Given the description of an element on the screen output the (x, y) to click on. 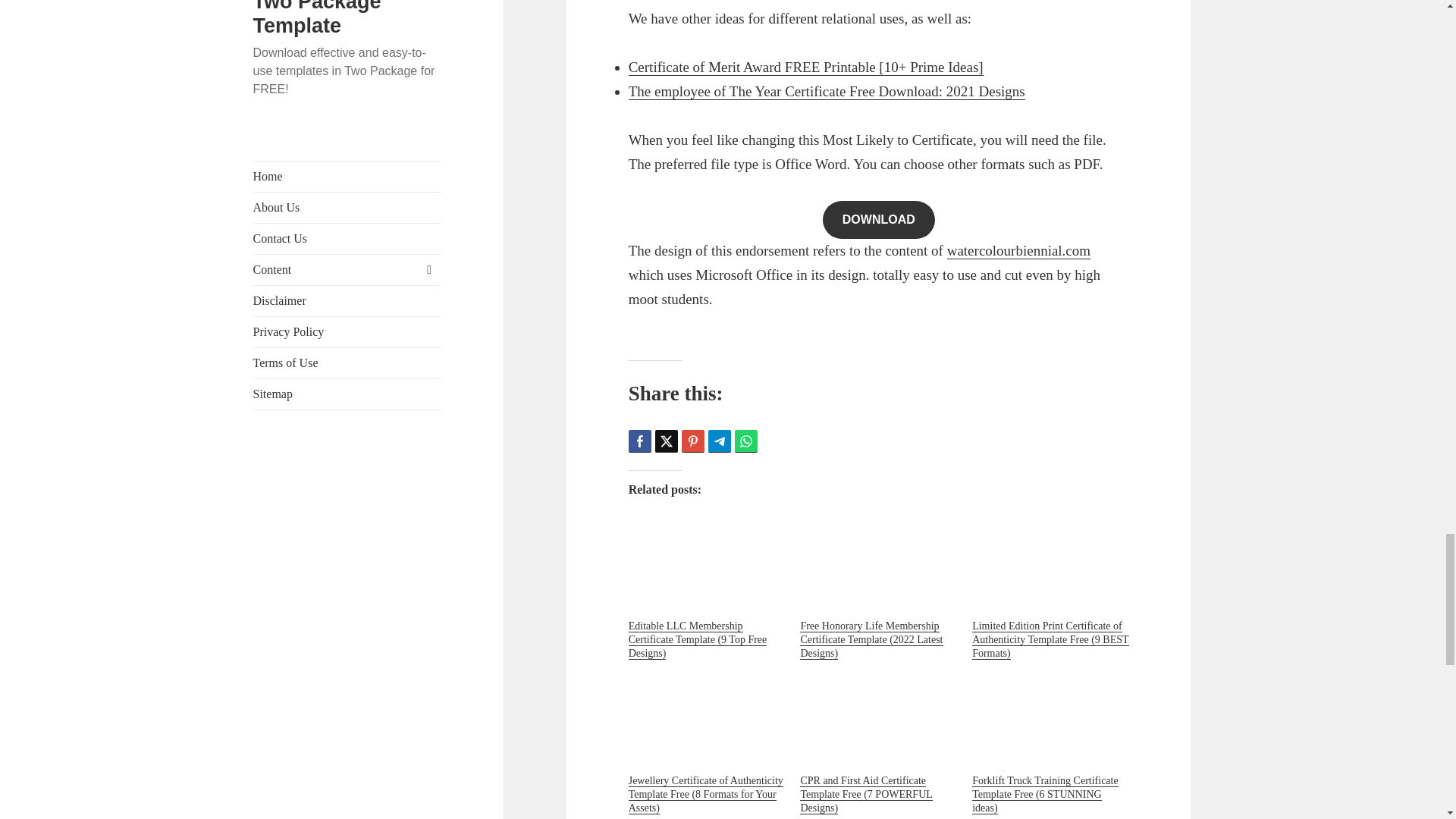
watercolourbiennial.com (1018, 250)
Pin this (692, 440)
DOWNLOAD (878, 219)
Share this (639, 440)
Telegram Share (718, 440)
Whatsapp (746, 440)
Tweet this (666, 440)
